Given the description of an element on the screen output the (x, y) to click on. 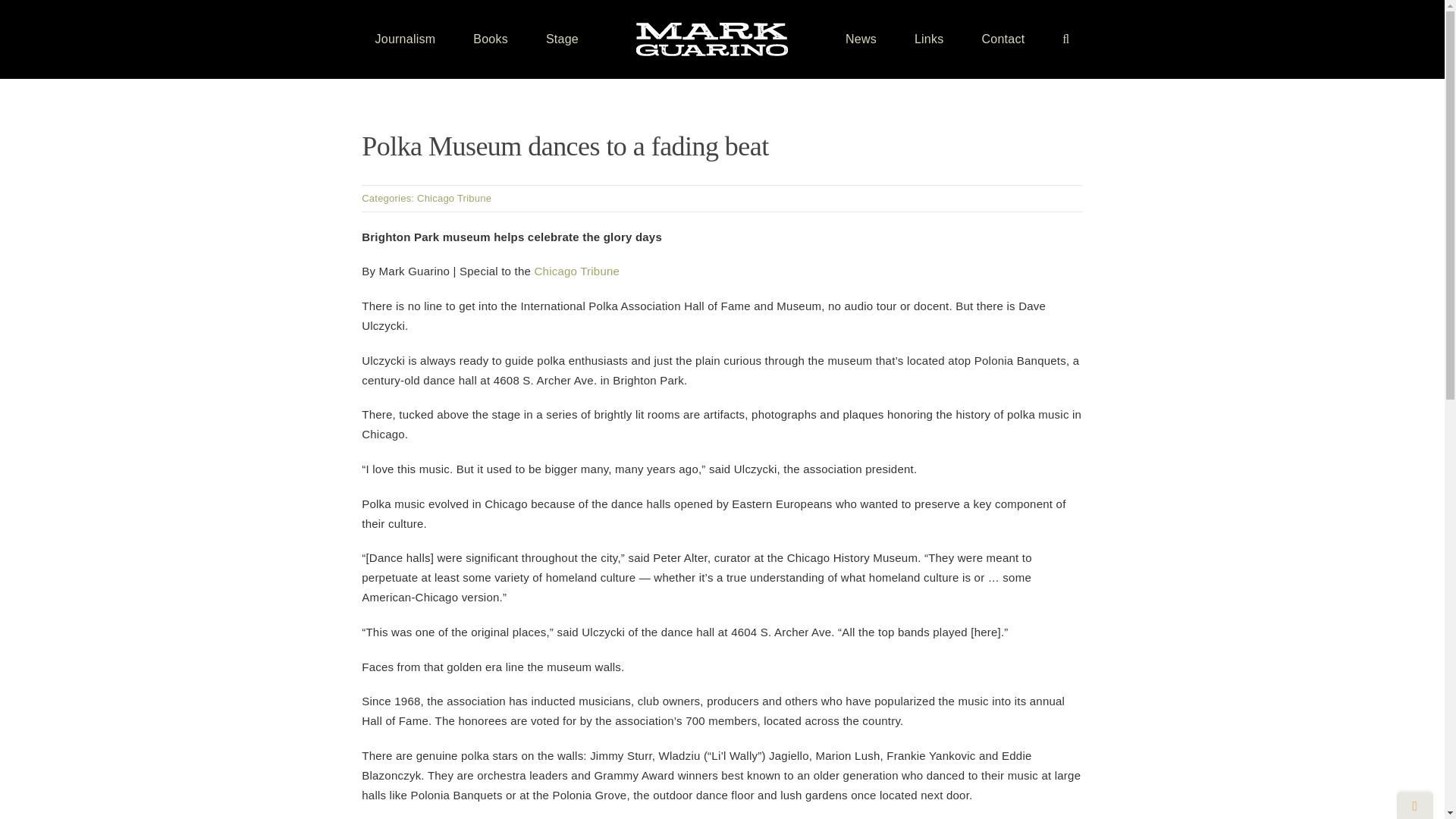
Chicago Tribune (577, 270)
Chicago Tribune (454, 197)
Books (490, 39)
Toggle Sliding Bar Area (1414, 805)
Journalism (405, 39)
Stage (562, 39)
News (860, 39)
Contact (1003, 39)
